Given the description of an element on the screen output the (x, y) to click on. 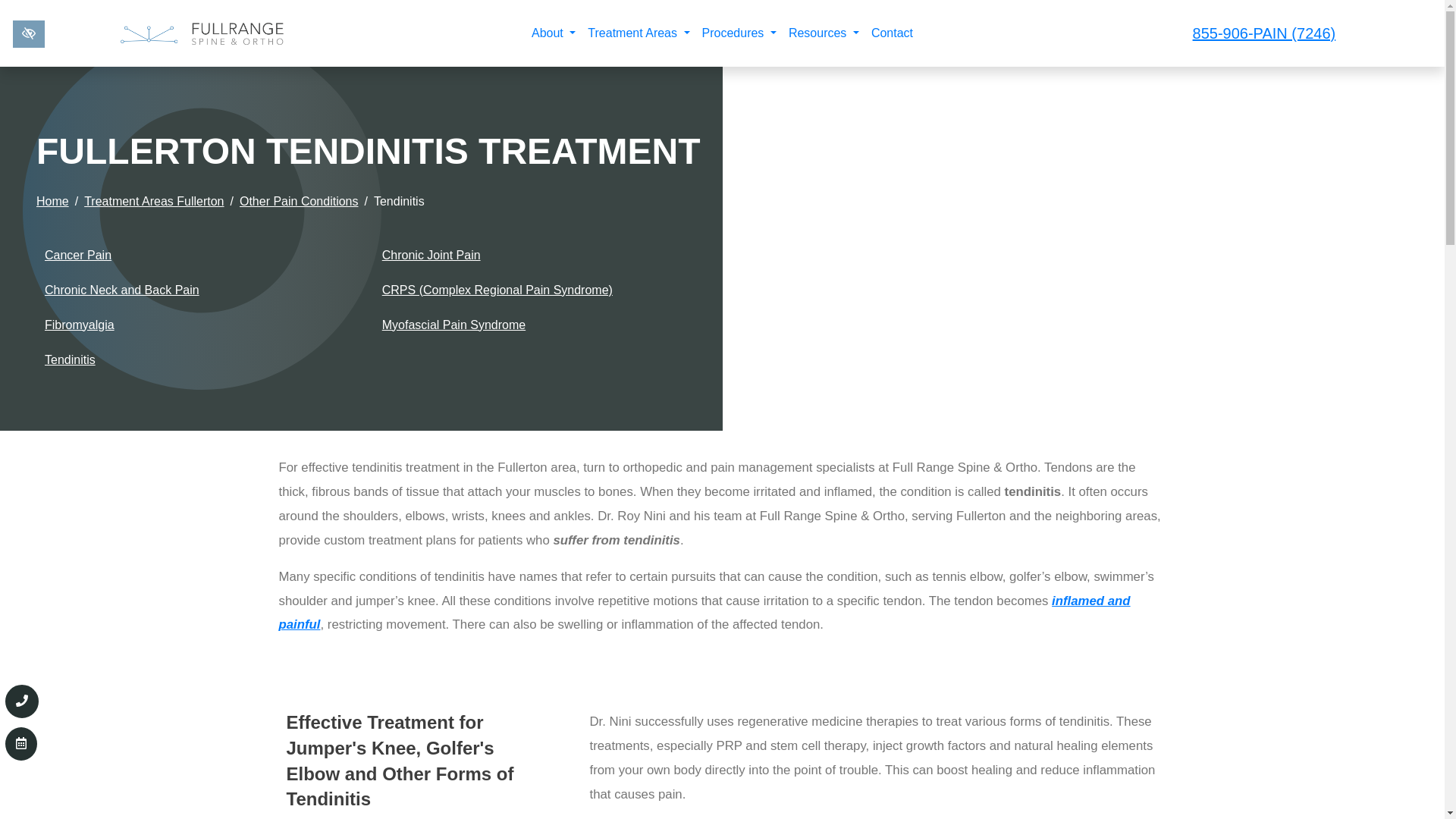
Treatment Areas (637, 33)
Fullerton CA Chronic Pain Management (705, 612)
About (552, 33)
Skip to main content (9, 4)
